Given the description of an element on the screen output the (x, y) to click on. 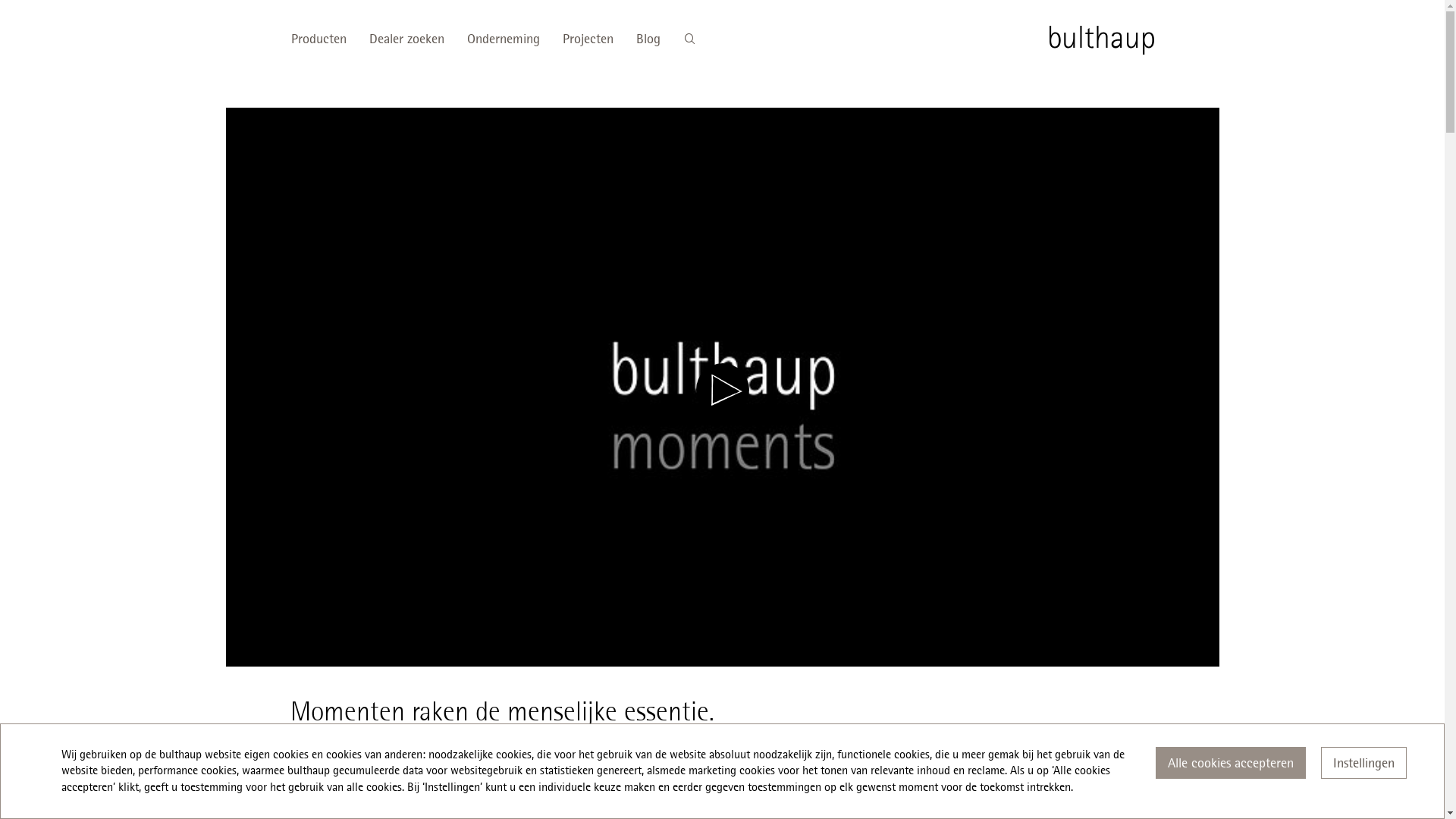
Dealer zoeken Element type: text (406, 38)
video starten Element type: hover (722, 389)
Producten Element type: text (324, 38)
Instellingen Element type: text (1363, 762)
Blog Element type: text (647, 38)
Onderneming Element type: text (502, 38)
zoeken Element type: hover (689, 38)
Alle cookies accepteren Element type: text (1230, 762)
Alle cookies accepteren Element type: text (1230, 762)
Instellingen Element type: text (1363, 762)
Projecten Element type: text (587, 38)
